Given the description of an element on the screen output the (x, y) to click on. 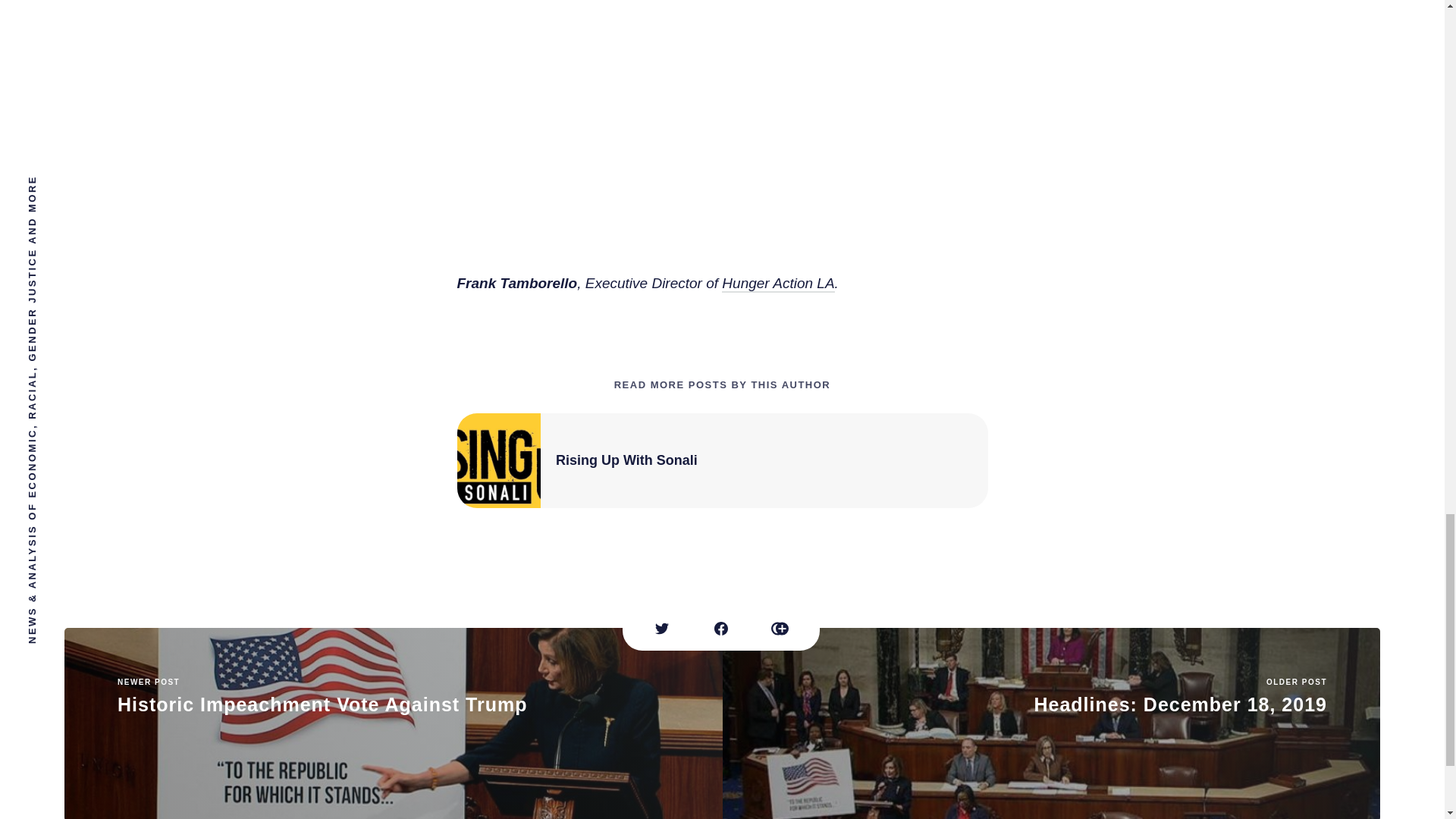
Hunger Action LA (1051, 723)
Rising Up With Sonali (778, 283)
